Given the description of an element on the screen output the (x, y) to click on. 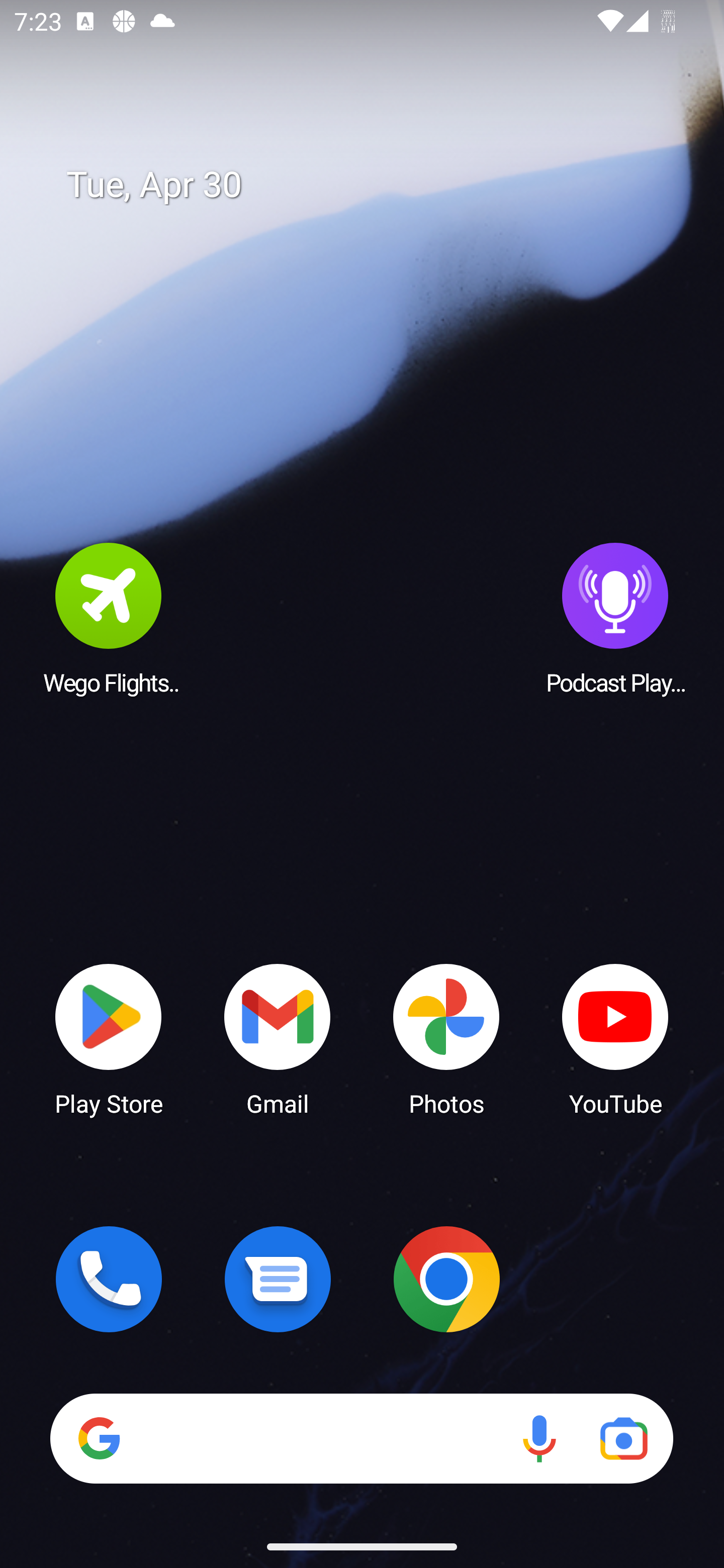
Tue, Apr 30 (375, 184)
Wego Flights & Hotels (108, 617)
Podcast Player (615, 617)
Play Store (108, 1038)
Gmail (277, 1038)
Photos (445, 1038)
YouTube (615, 1038)
Phone (108, 1279)
Messages (277, 1279)
Chrome (446, 1279)
Voice search (539, 1438)
Google Lens (623, 1438)
